Given the description of an element on the screen output the (x, y) to click on. 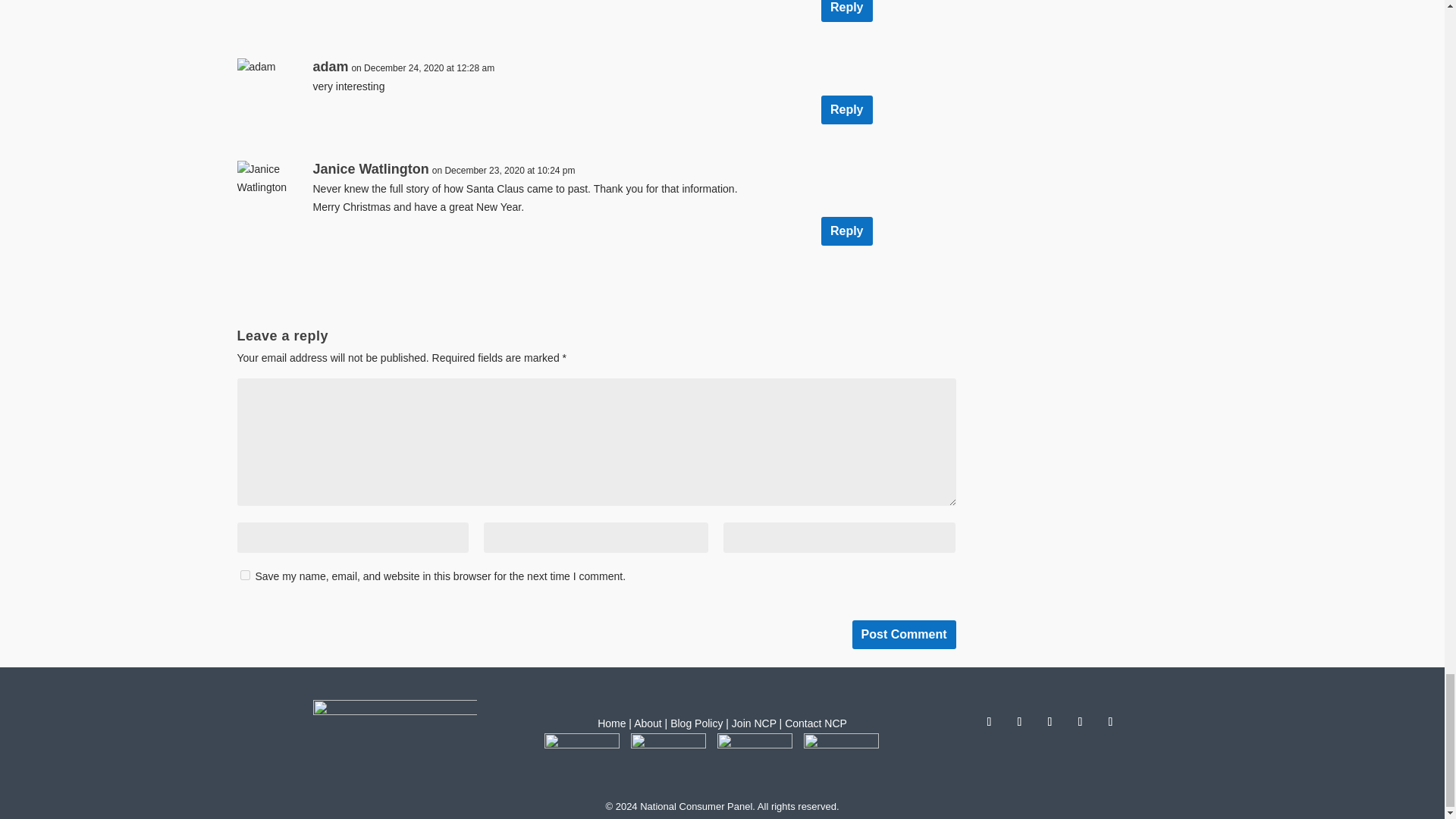
yes (244, 574)
Follow on Facebook (988, 721)
Post Comment (903, 634)
Follow on X (1018, 721)
